Given the description of an element on the screen output the (x, y) to click on. 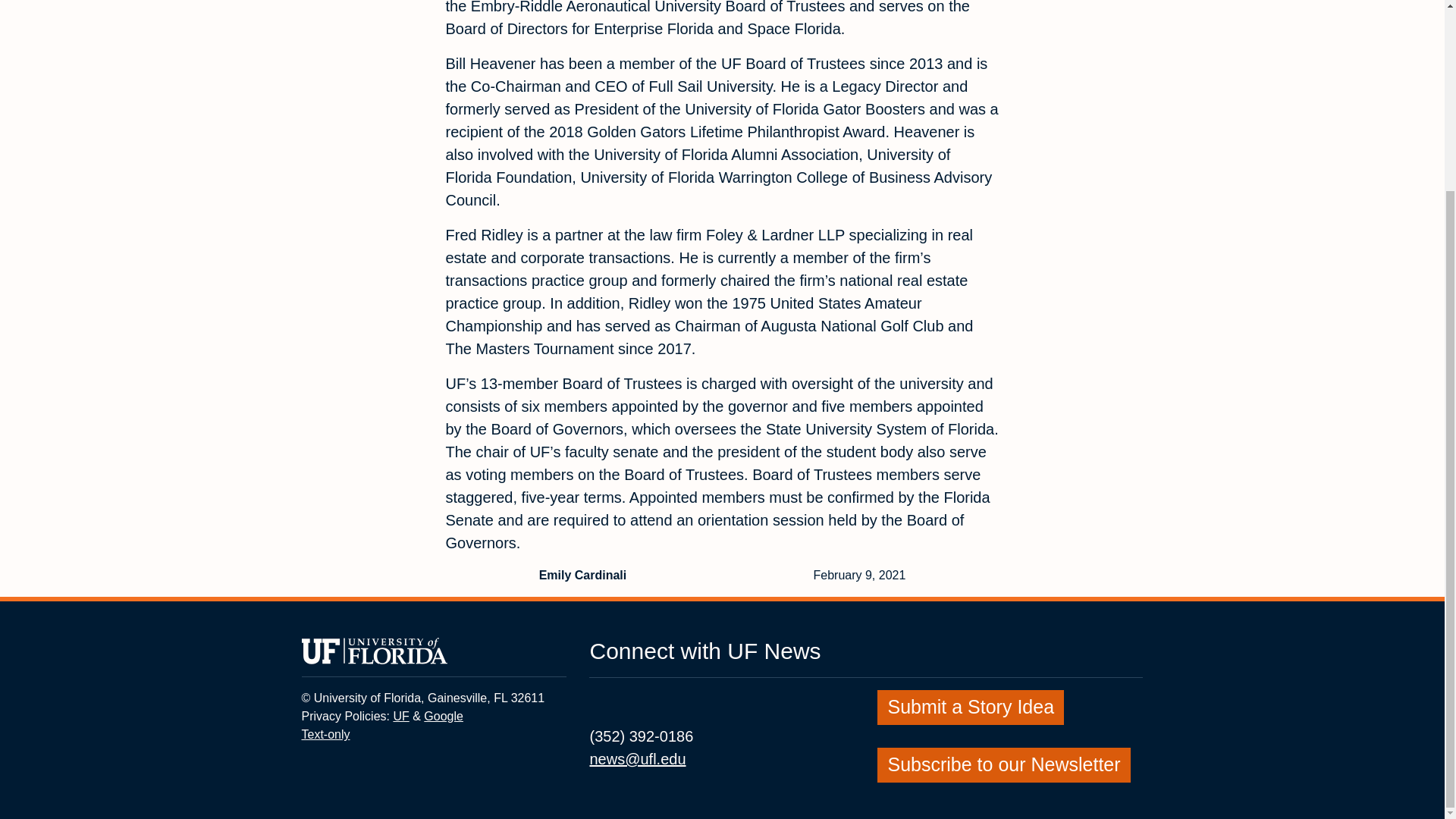
Subscribe to our Newsletter (443, 716)
Submit a Story Idea (401, 716)
Text-only (1003, 763)
